Given the description of an element on the screen output the (x, y) to click on. 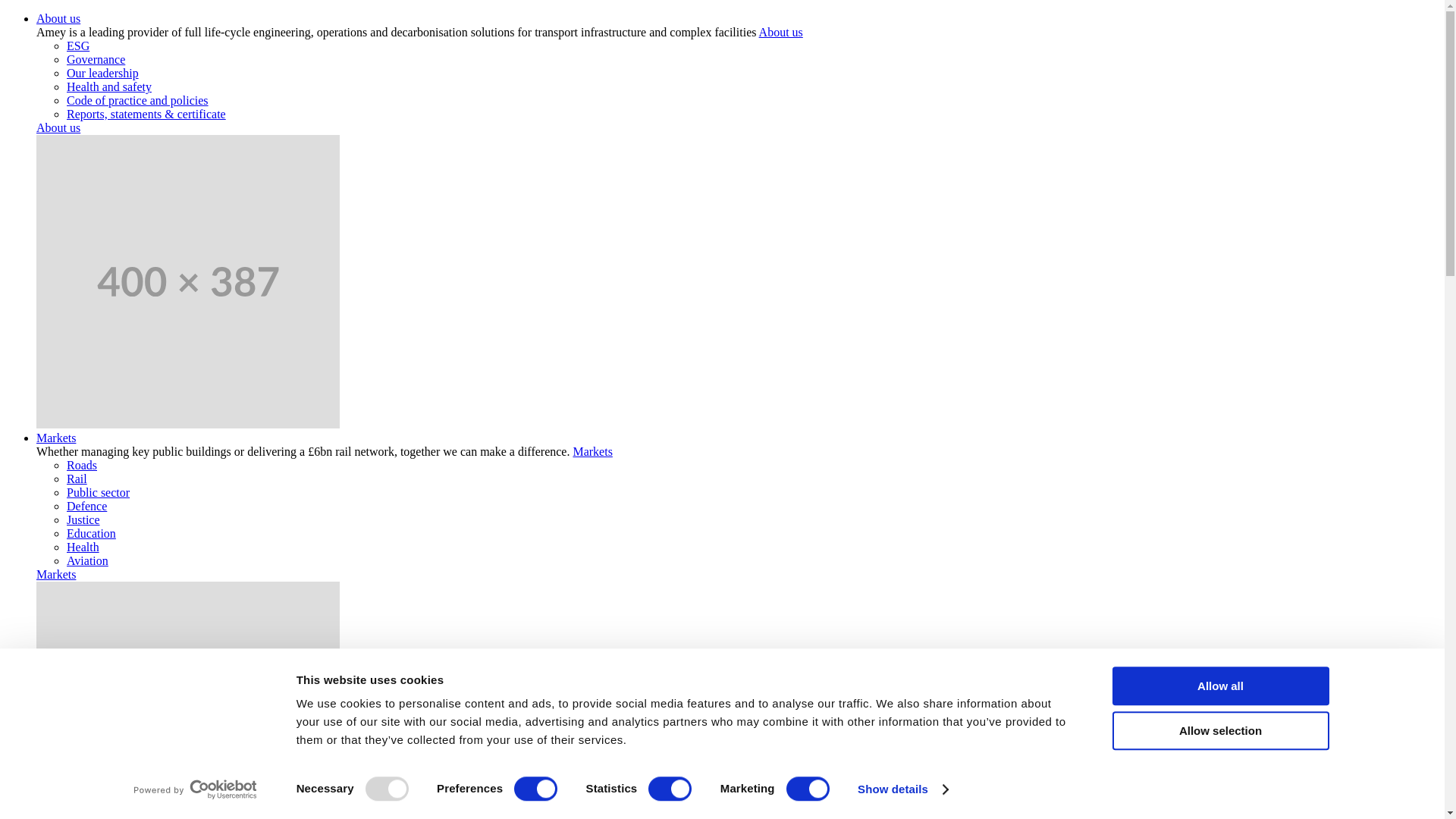
Show details (902, 789)
